Given the description of an element on the screen output the (x, y) to click on. 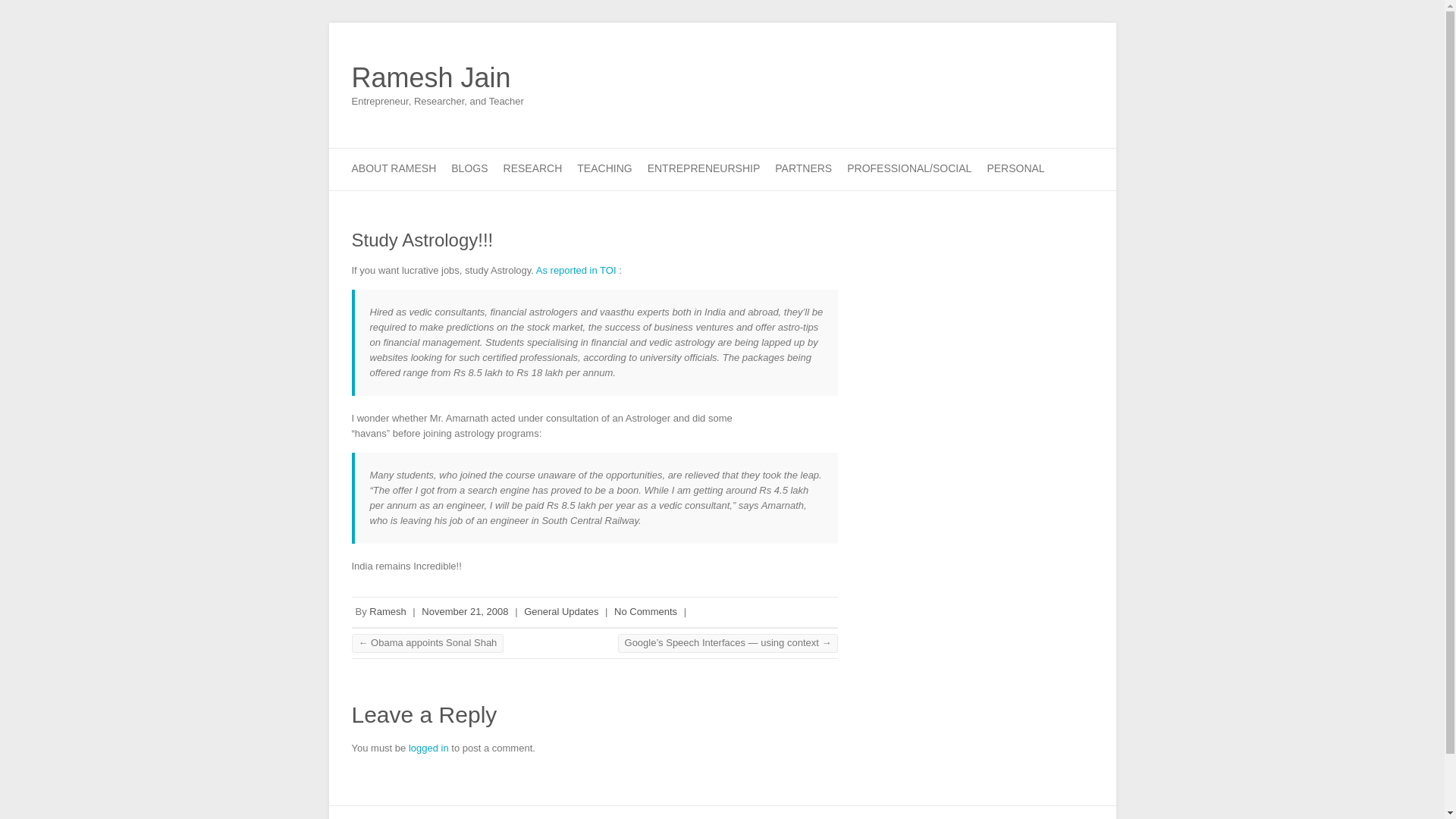
ABOUT RAMESH (394, 169)
PARTNERS (802, 169)
General Updates (561, 611)
RESEARCH (532, 169)
ENTREPRENEURSHIP (703, 169)
TEACHING (603, 169)
Ramesh Jain (438, 78)
Ramesh Jain (438, 78)
PERSONAL (1015, 169)
As reported in TOI (576, 270)
